Given the description of an element on the screen output the (x, y) to click on. 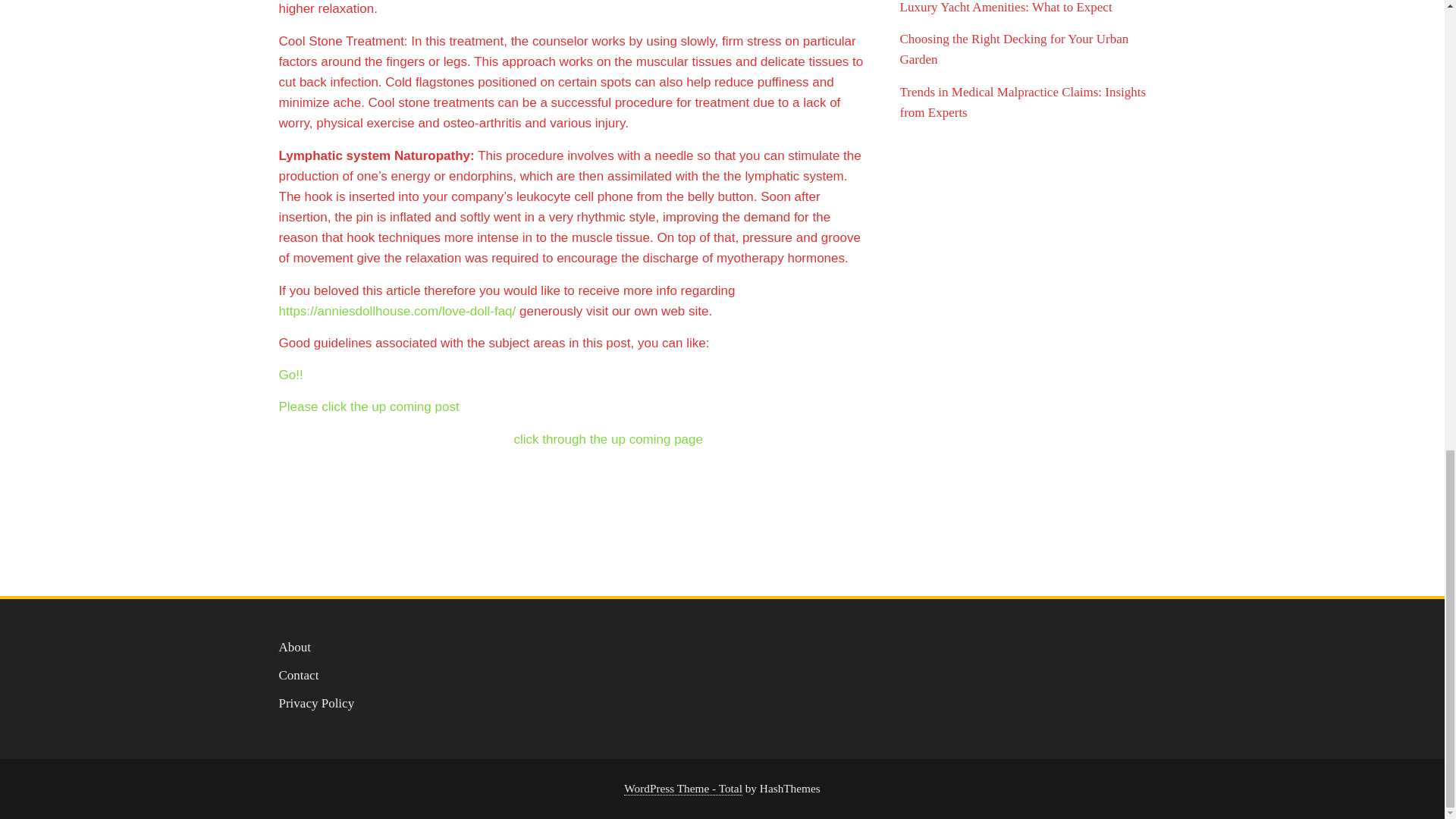
WordPress Theme - Total (683, 788)
Choosing the Right Decking for Your Urban Garden (1013, 48)
Luxury Yacht Amenities: What to Expect (1005, 7)
click through the up coming page (608, 439)
Go!! (290, 374)
Privacy Policy (317, 703)
Please click the up coming post (369, 406)
Contact (298, 675)
Trends in Medical Malpractice Claims: Insights from Experts (1022, 102)
About (295, 646)
